Given the description of an element on the screen output the (x, y) to click on. 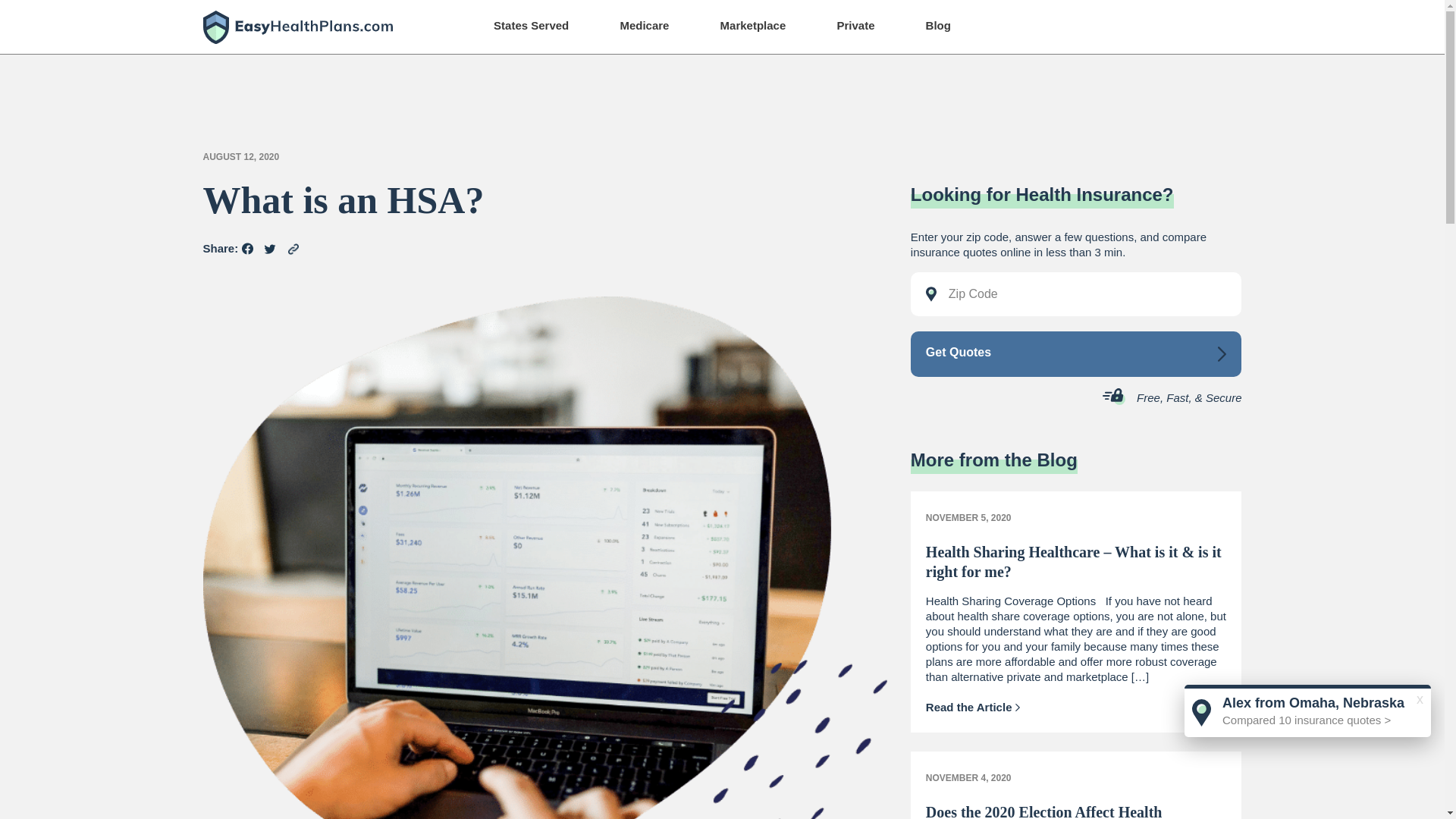
Blog (938, 24)
Share on Facebook (247, 248)
Get Quotes (1076, 353)
Send Link (292, 248)
Read the Article (973, 707)
Tweet (270, 248)
States Served (531, 24)
